Given the description of an element on the screen output the (x, y) to click on. 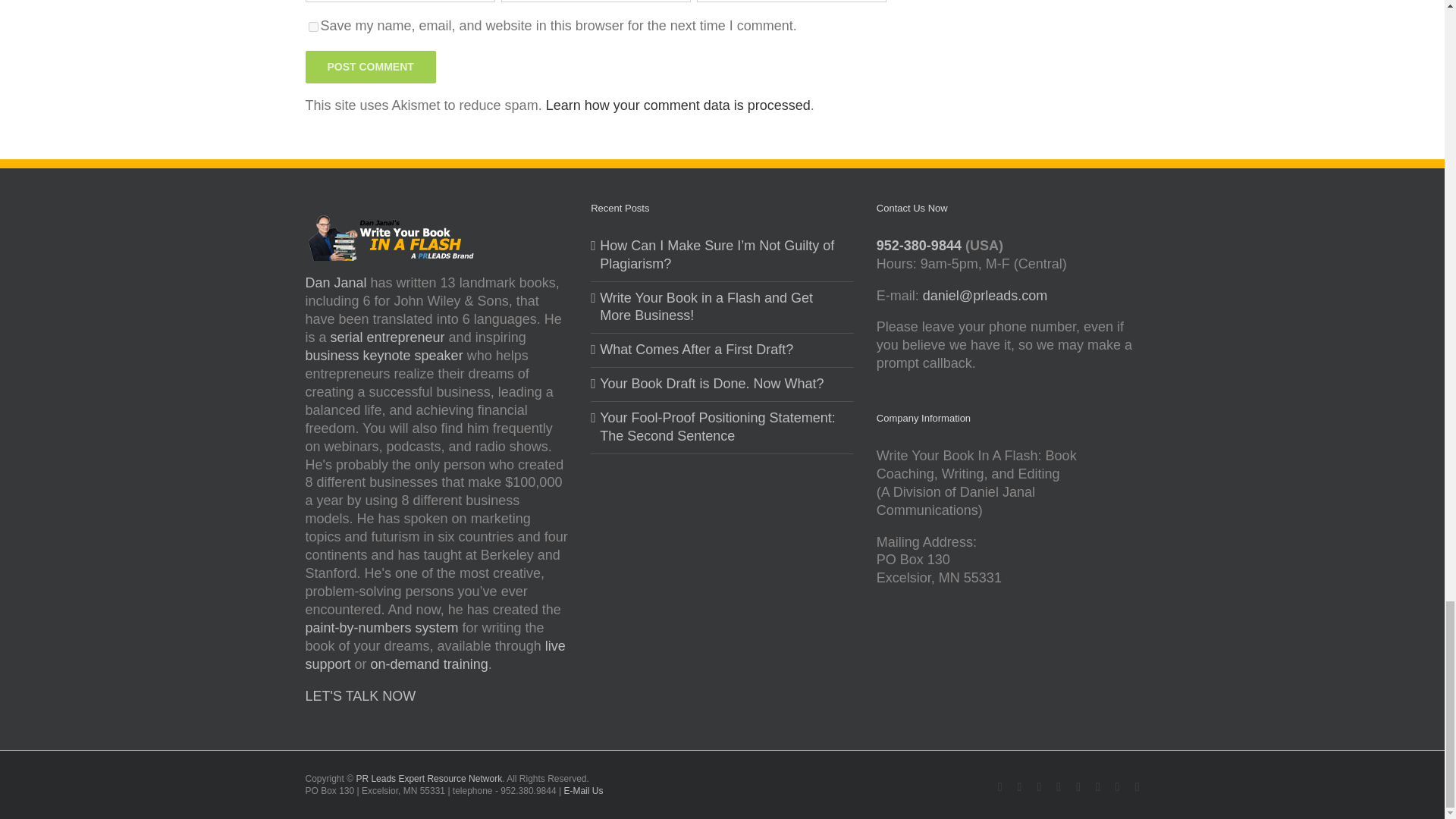
yes (312, 26)
Post Comment (369, 66)
